Given the description of an element on the screen output the (x, y) to click on. 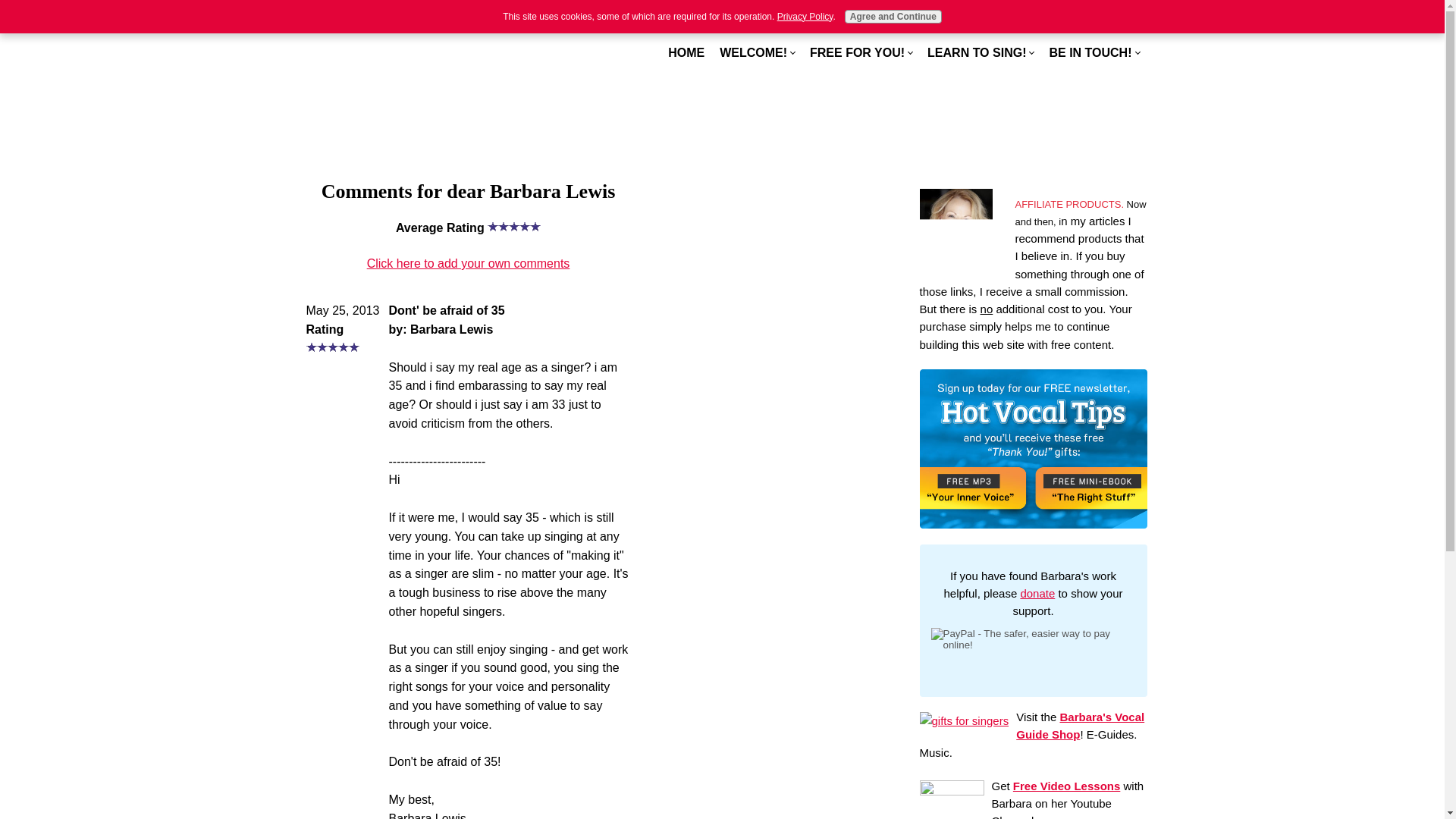
Free Video Lessons (1066, 785)
Click here to add your own comments (468, 263)
Privacy Policy (804, 16)
Agree and Continue (893, 16)
donate (1037, 593)
singing-tips-with-barbara-lewis.com (421, 53)
gifts for singers (963, 720)
Barbara's Vocal Guide Shop (1080, 725)
HOME (686, 52)
